Given the description of an element on the screen output the (x, y) to click on. 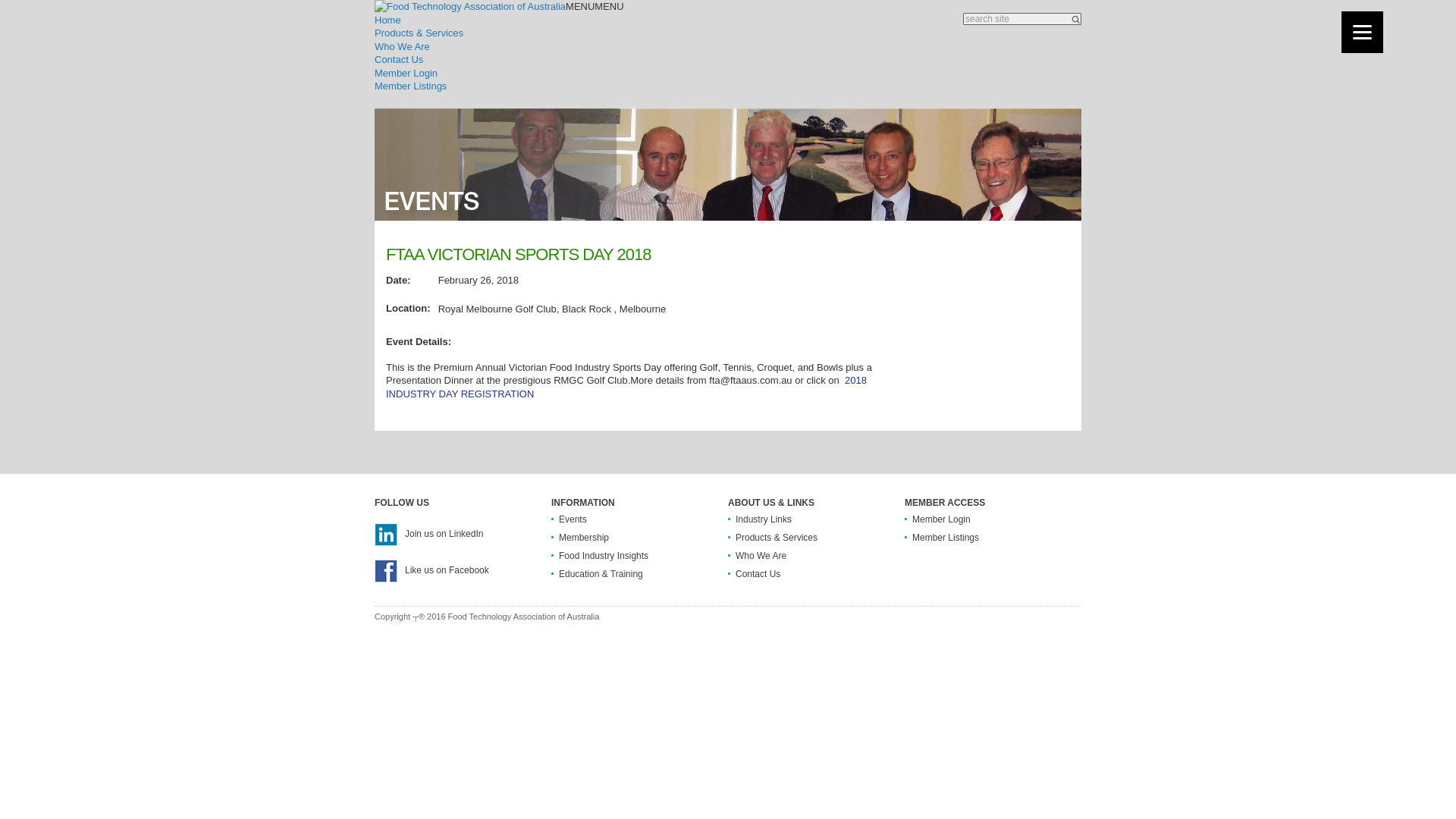
Who We Are Element type: text (401, 46)
Member Login Element type: text (941, 519)
Membership Element type: text (583, 537)
Contact Us Element type: text (757, 573)
Food Industry Insights Element type: text (603, 555)
Member Listings Element type: text (410, 85)
Education & Training Element type: text (600, 573)
Products & Services Element type: text (776, 537)
Like us on Facebook Element type: text (431, 569)
Events Element type: text (572, 519)
Member Listings Element type: text (945, 537)
Industry Links Element type: text (763, 519)
Member Login Element type: text (405, 72)
Who We Are Element type: text (760, 555)
2018 INDUSTRY DAY REGISTRATION Element type: text (625, 386)
Home Element type: text (387, 19)
Join us on LinkedIn Element type: text (428, 533)
Products & Services Element type: text (418, 32)
Contact Us Element type: text (398, 59)
